Given the description of an element on the screen output the (x, y) to click on. 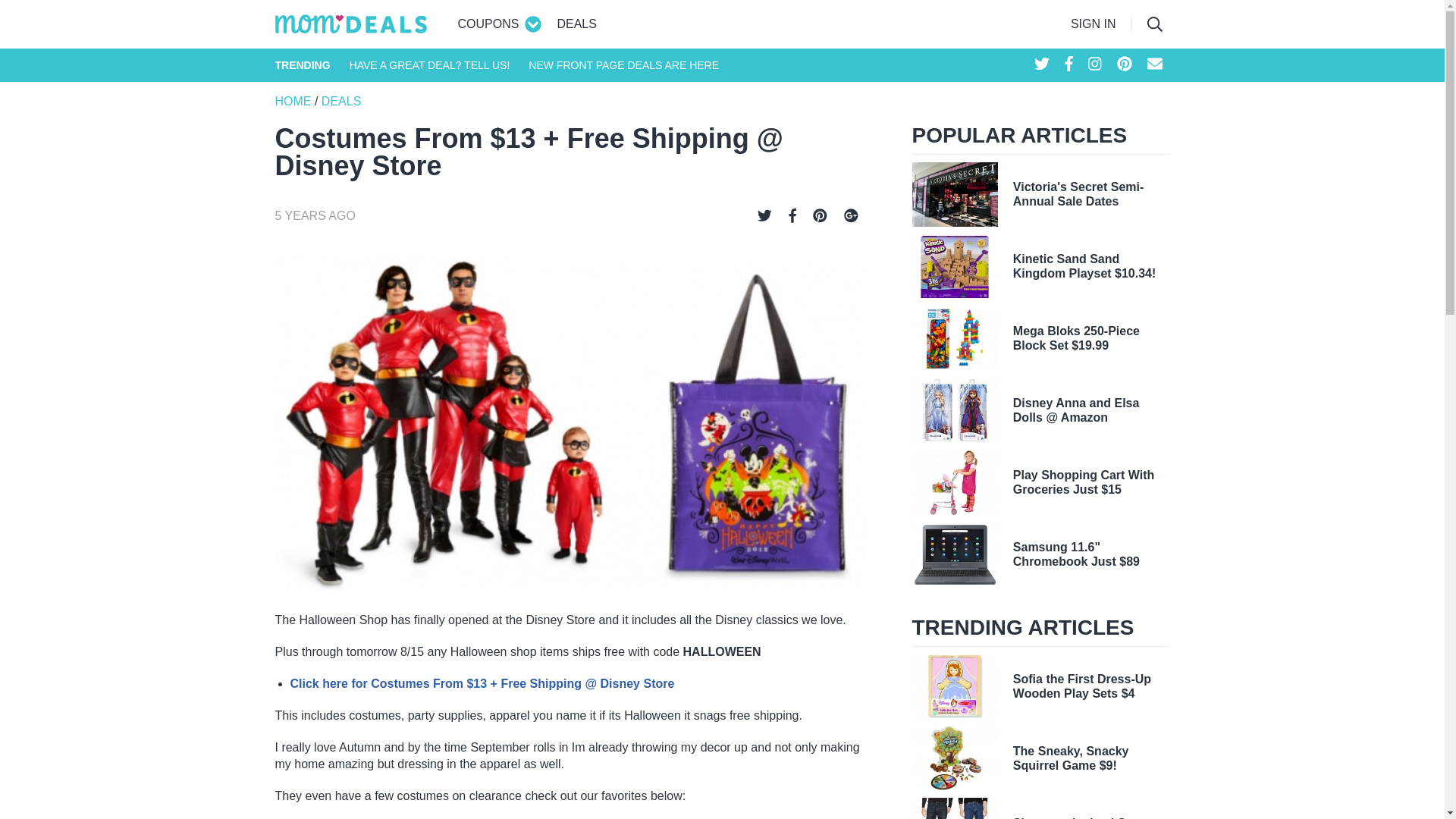
COUPONS (488, 23)
